Given the description of an element on the screen output the (x, y) to click on. 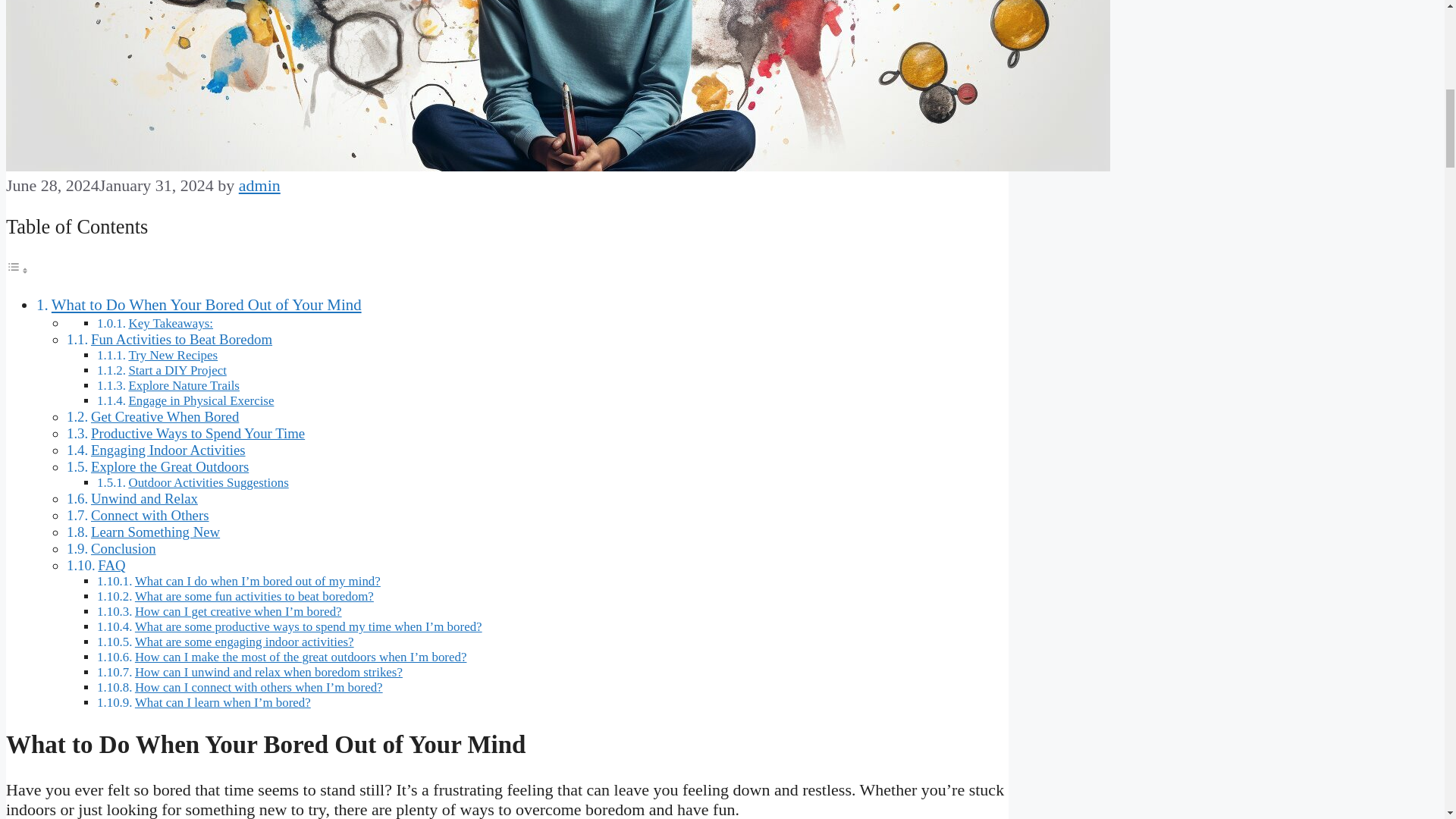
Engage in Physical Exercise (200, 400)
Try New Recipes (172, 355)
Outdoor Activities Suggestions (208, 482)
Unwind and Relax (144, 498)
Fun Activities to Beat Boredom (181, 339)
Learn Something New (154, 531)
Try New Recipes (172, 355)
Explore Nature Trails (184, 385)
Engaging Indoor Activities (168, 449)
Engaging Indoor Activities (168, 449)
Explore the Great Outdoors (169, 466)
Key Takeaways: (170, 323)
Get Creative When Bored (164, 416)
Key Takeaways: (170, 323)
Productive Ways to Spend Your Time (197, 433)
